Given the description of an element on the screen output the (x, y) to click on. 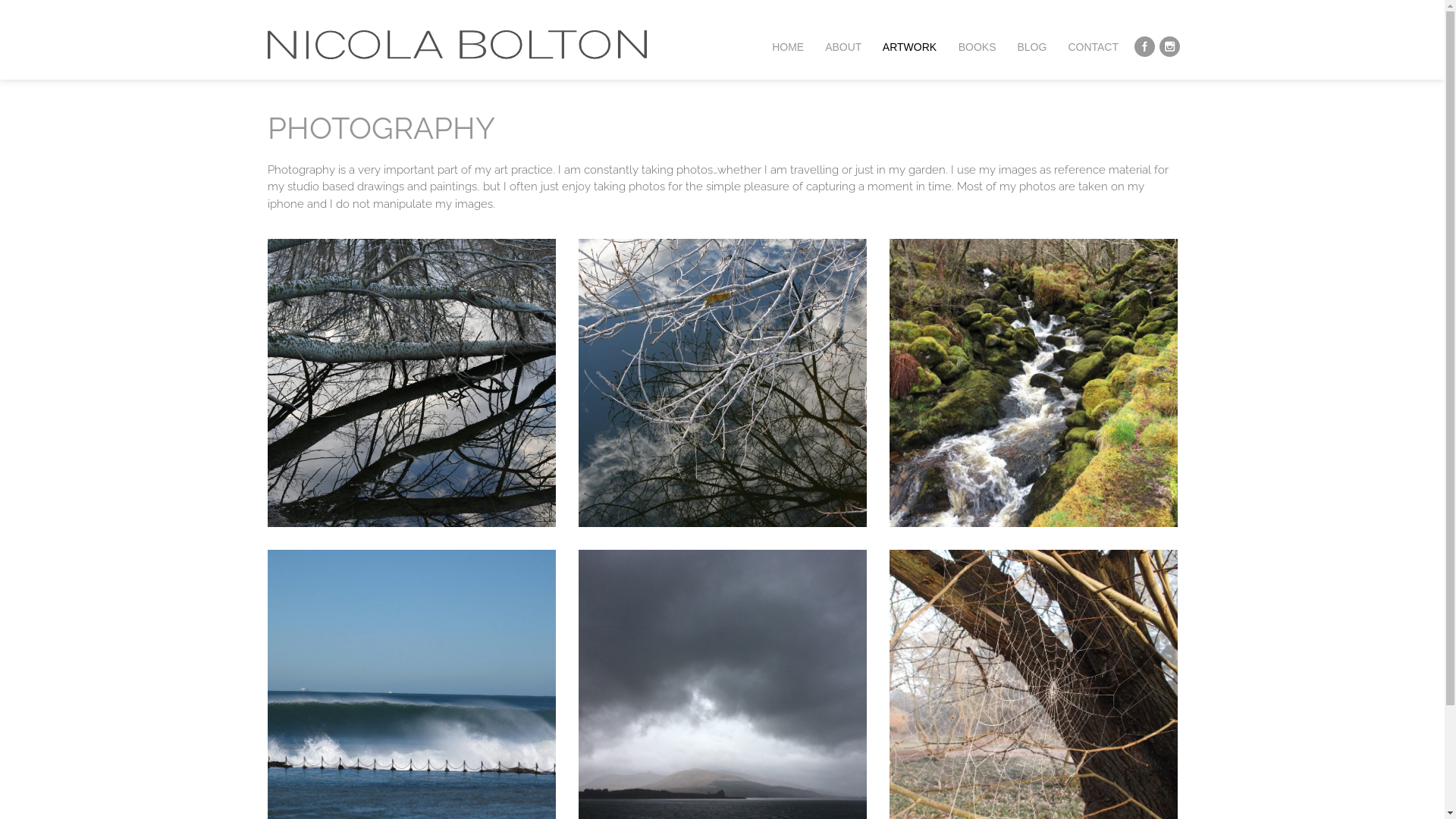
Artist in Newcastle and Hunter Valley, Australia Element type: hover (456, 49)
CONTACT Element type: text (1093, 47)
River reflections 2 Element type: hover (410, 382)
ARTWORK Element type: text (909, 47)
BLOG Element type: text (1031, 47)
ABOUT Element type: text (843, 47)
Facebook Element type: hover (1145, 47)
Instagram Element type: hover (1170, 47)
HOME Element type: text (787, 47)
BOOKS Element type: text (976, 47)
River reflections 1 Element type: hover (721, 382)
Scottish stream Element type: hover (1032, 382)
